Given the description of an element on the screen output the (x, y) to click on. 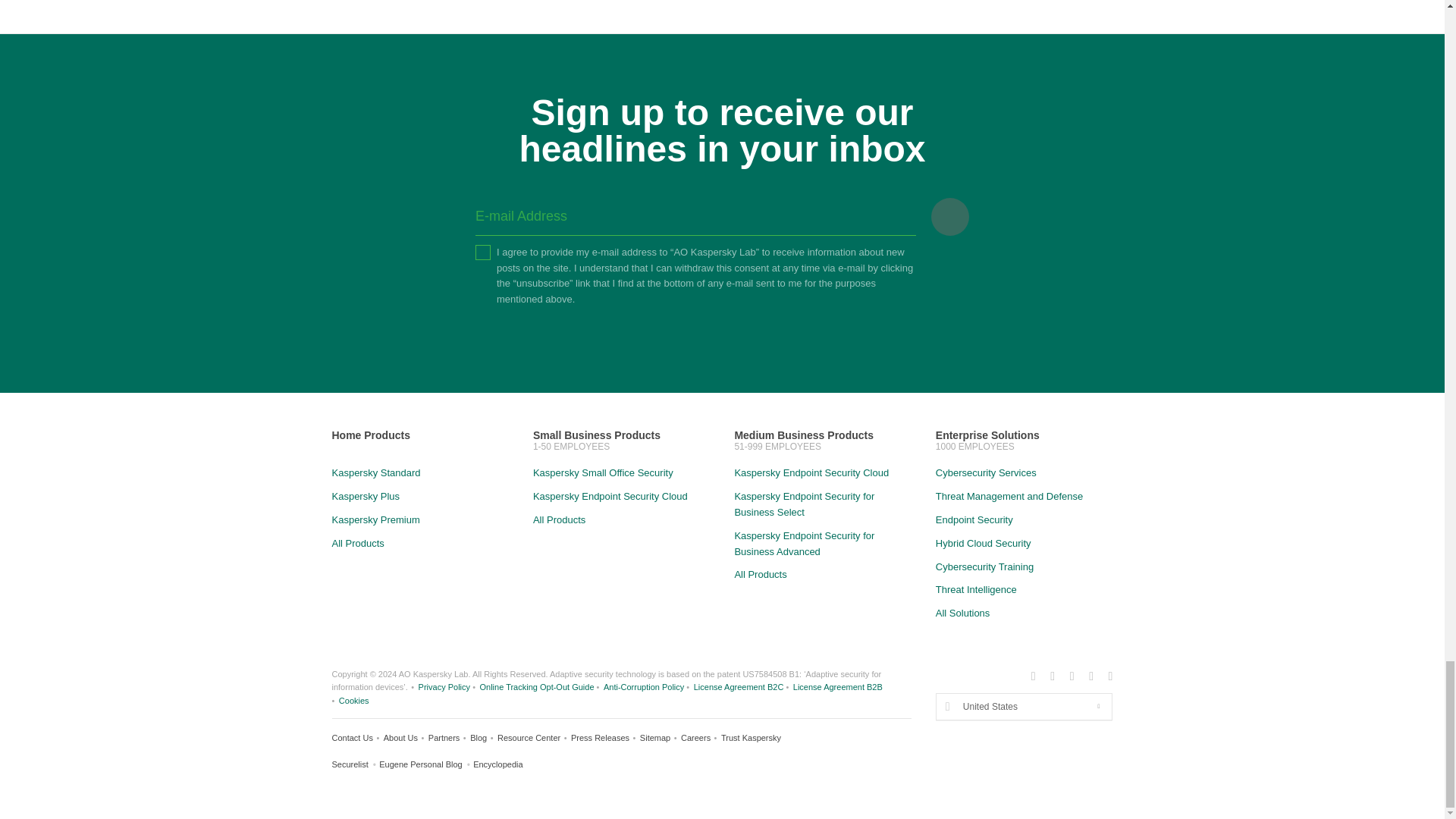
Sign me Up (950, 216)
